Given the description of an element on the screen output the (x, y) to click on. 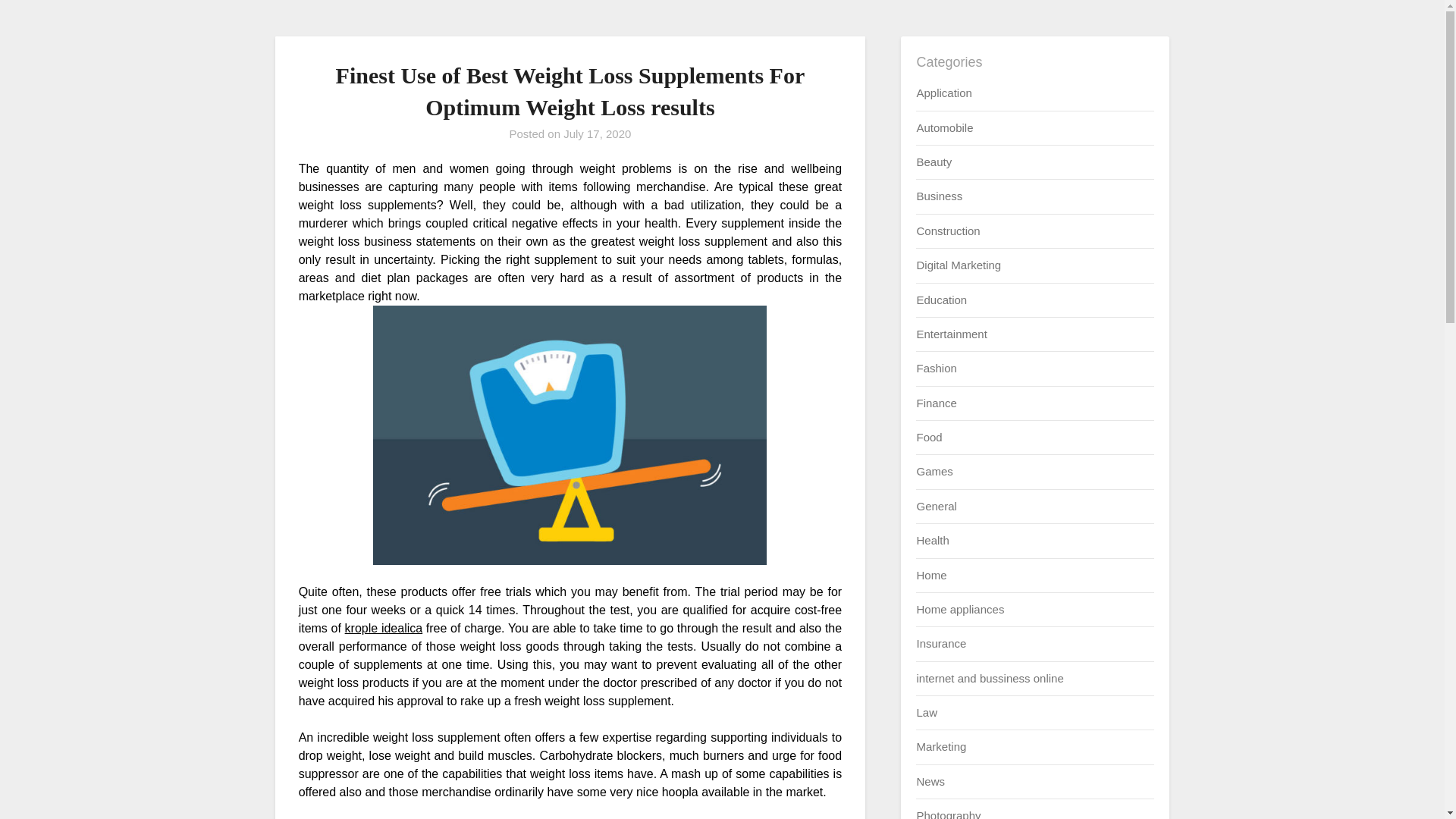
Marketing (940, 746)
Games (933, 471)
Photography (947, 814)
internet and bussiness online (988, 677)
News (929, 780)
Automobile (943, 127)
Business (938, 195)
Health (932, 540)
Education (940, 298)
Insurance (940, 643)
